Given the description of an element on the screen output the (x, y) to click on. 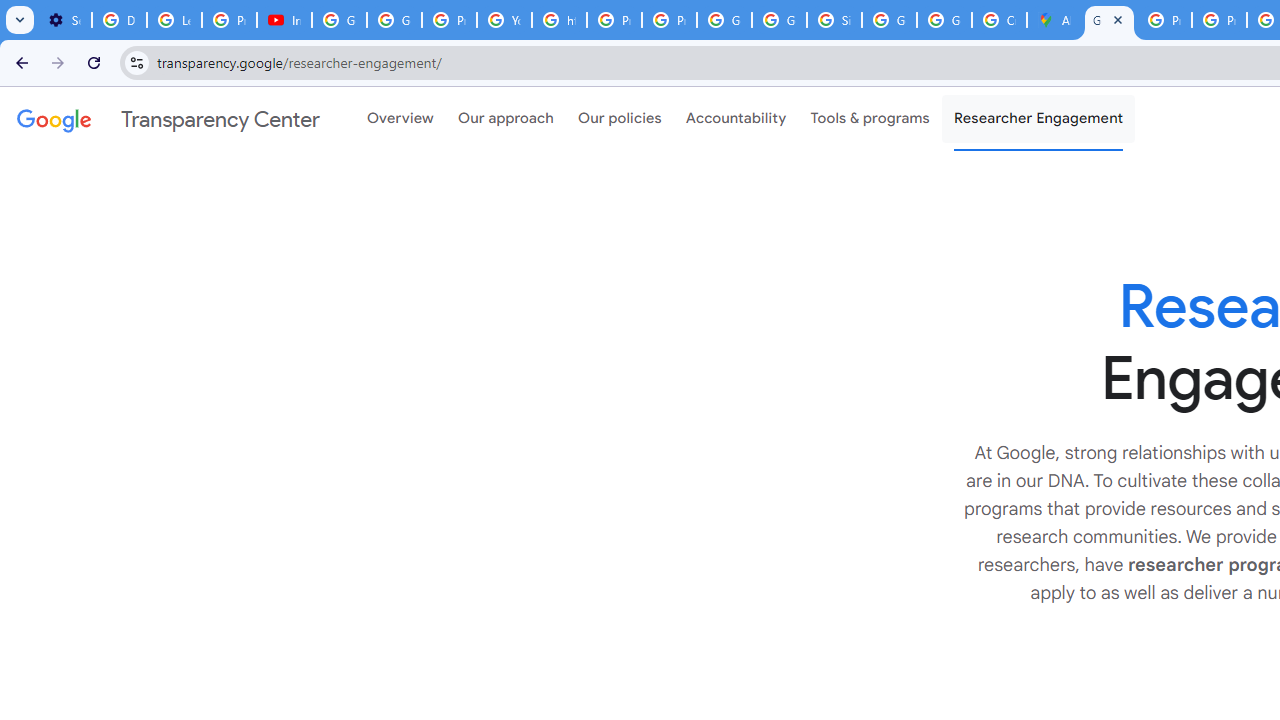
Create your Google Account (998, 20)
Sign in - Google Accounts (833, 20)
Settings - Performance (64, 20)
YouTube (504, 20)
Researcher Engagement (1038, 119)
Tools & programs (869, 119)
https://scholar.google.com/ (559, 20)
Our policies (619, 119)
Privacy Help Center - Policies Help (1218, 20)
Accountability (735, 119)
Delete photos & videos - Computer - Google Photos Help (119, 20)
